Given the description of an element on the screen output the (x, y) to click on. 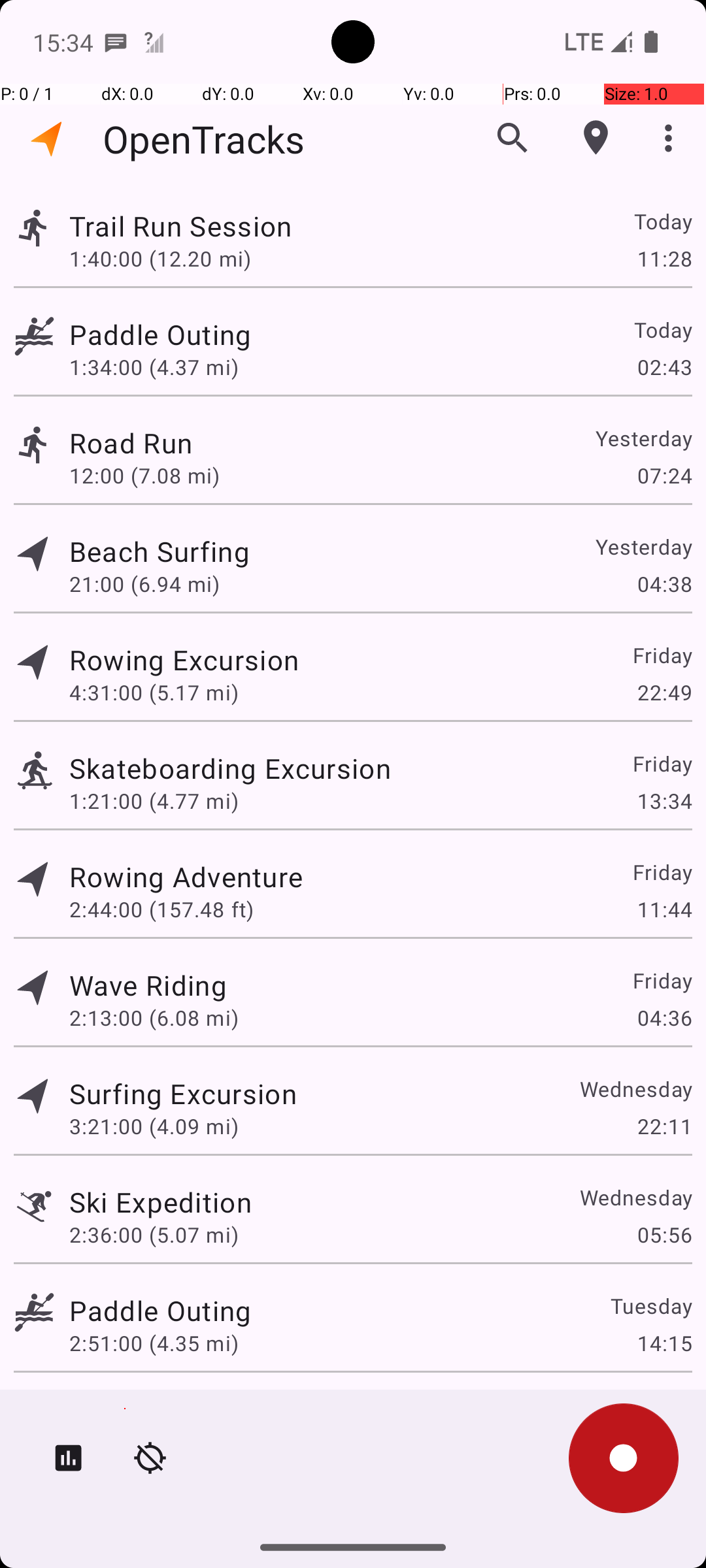
Trail Run Session Element type: android.widget.TextView (180, 225)
1:40:00 (12.20 mi) Element type: android.widget.TextView (159, 258)
11:28 Element type: android.widget.TextView (664, 258)
Paddle Outing Element type: android.widget.TextView (159, 333)
1:34:00 (4.37 mi) Element type: android.widget.TextView (153, 366)
02:43 Element type: android.widget.TextView (664, 366)
Road Run Element type: android.widget.TextView (130, 442)
12:00 (7.08 mi) Element type: android.widget.TextView (144, 475)
07:24 Element type: android.widget.TextView (664, 475)
Beach Surfing Element type: android.widget.TextView (159, 550)
21:00 (6.94 mi) Element type: android.widget.TextView (144, 583)
04:38 Element type: android.widget.TextView (664, 583)
Rowing Excursion Element type: android.widget.TextView (183, 659)
4:31:00 (5.17 mi) Element type: android.widget.TextView (153, 692)
22:49 Element type: android.widget.TextView (664, 692)
Skateboarding Excursion Element type: android.widget.TextView (229, 767)
1:21:00 (4.77 mi) Element type: android.widget.TextView (153, 800)
13:34 Element type: android.widget.TextView (664, 800)
Rowing Adventure Element type: android.widget.TextView (185, 876)
2:44:00 (157.48 ft) Element type: android.widget.TextView (161, 909)
11:44 Element type: android.widget.TextView (664, 909)
Wave Riding Element type: android.widget.TextView (147, 984)
2:13:00 (6.08 mi) Element type: android.widget.TextView (153, 1017)
04:36 Element type: android.widget.TextView (664, 1017)
Surfing Excursion Element type: android.widget.TextView (182, 1092)
3:21:00 (4.09 mi) Element type: android.widget.TextView (153, 1125)
22:11 Element type: android.widget.TextView (664, 1125)
Ski Expedition Element type: android.widget.TextView (160, 1201)
2:36:00 (5.07 mi) Element type: android.widget.TextView (153, 1234)
05:56 Element type: android.widget.TextView (664, 1234)
2:51:00 (4.35 mi) Element type: android.widget.TextView (153, 1342)
14:15 Element type: android.widget.TextView (664, 1342)
Trail Jog Element type: android.widget.TextView (124, 1408)
